Given the description of an element on the screen output the (x, y) to click on. 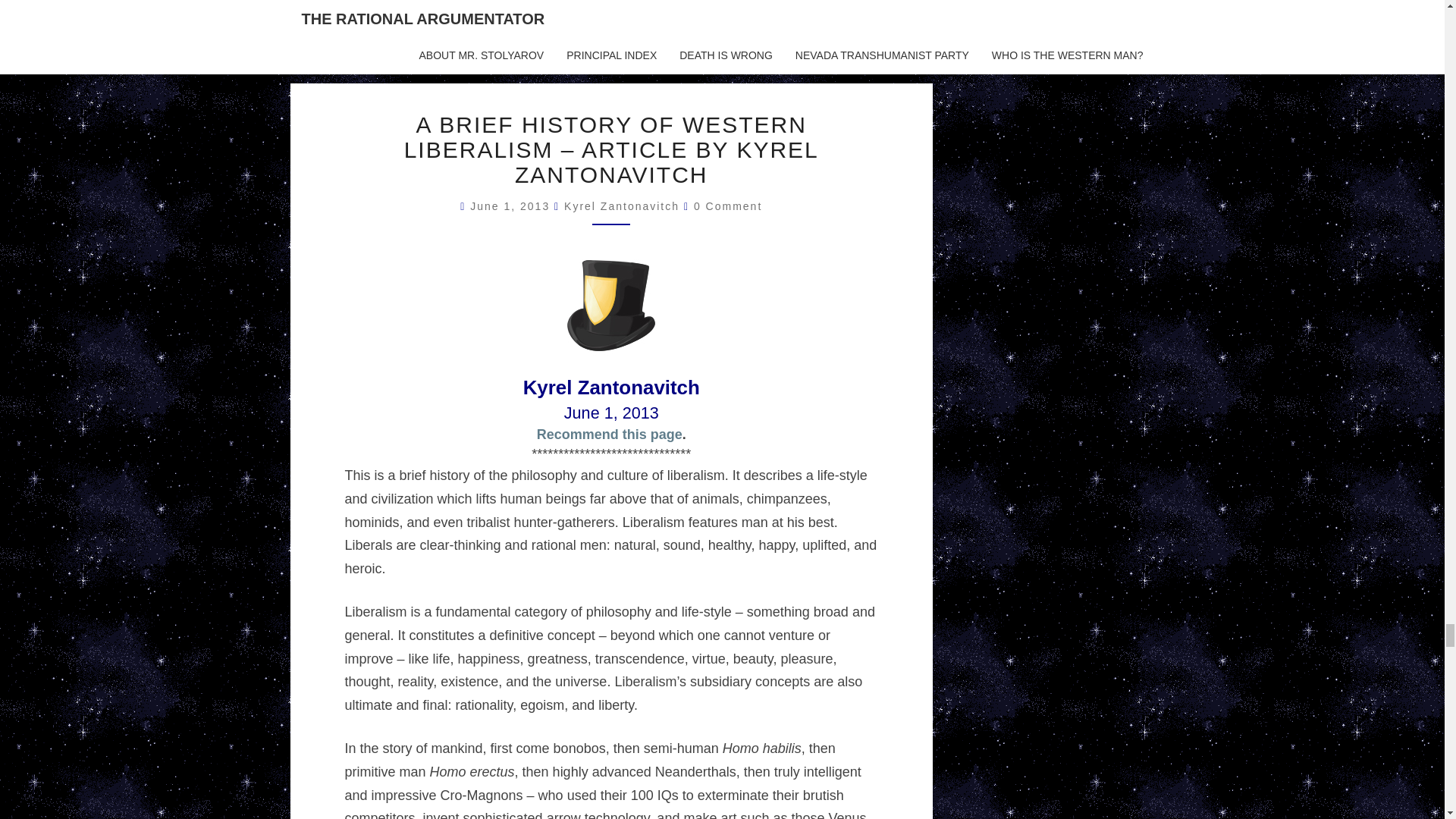
6:51 AM (512, 205)
View all posts by Kyrel Zantonavitch (621, 205)
